Given the description of an element on the screen output the (x, y) to click on. 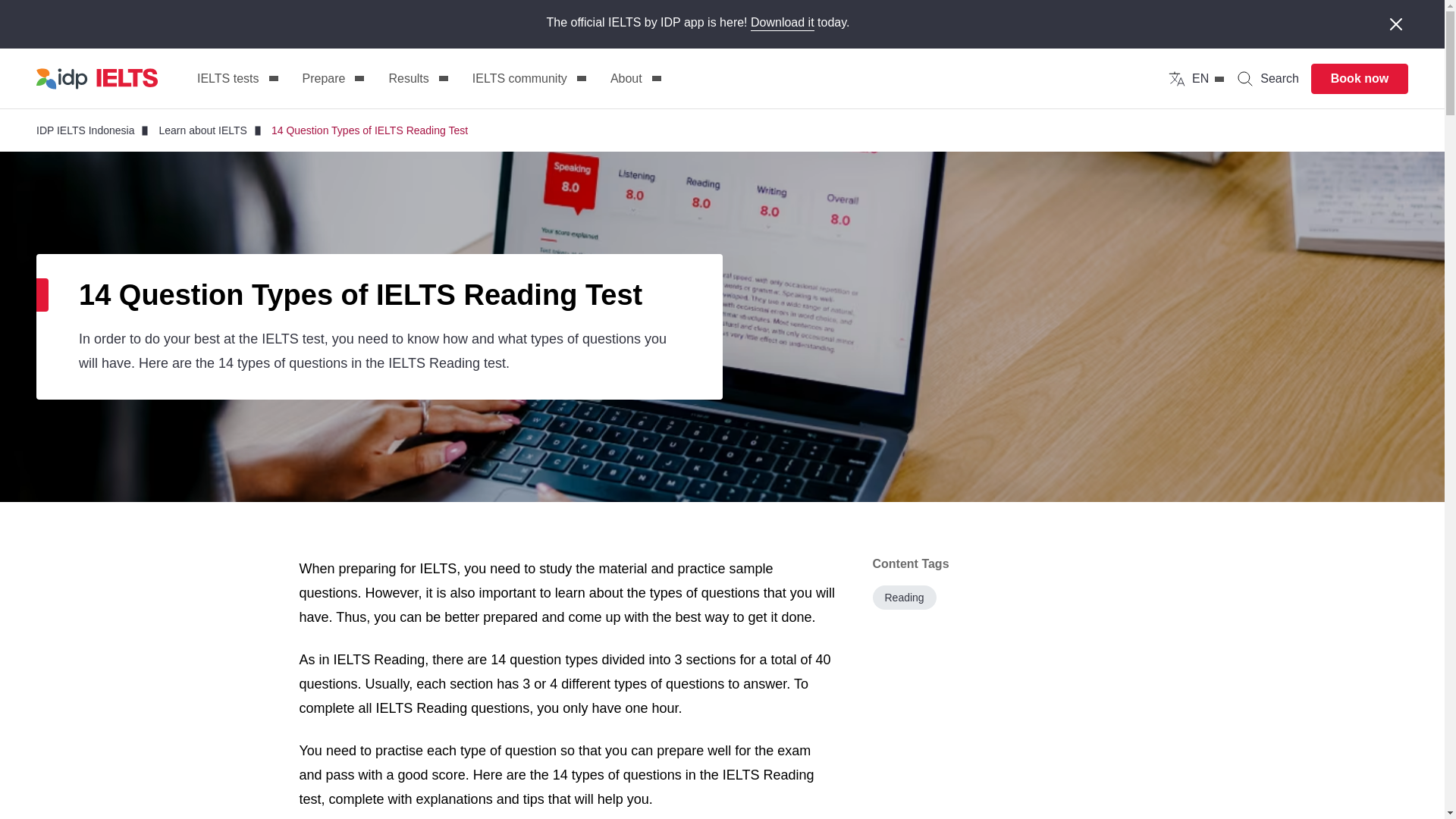
IELTS tests (236, 78)
IDP IELTS (96, 78)
Download it (782, 23)
IELTS tests (236, 78)
